Given the description of an element on the screen output the (x, y) to click on. 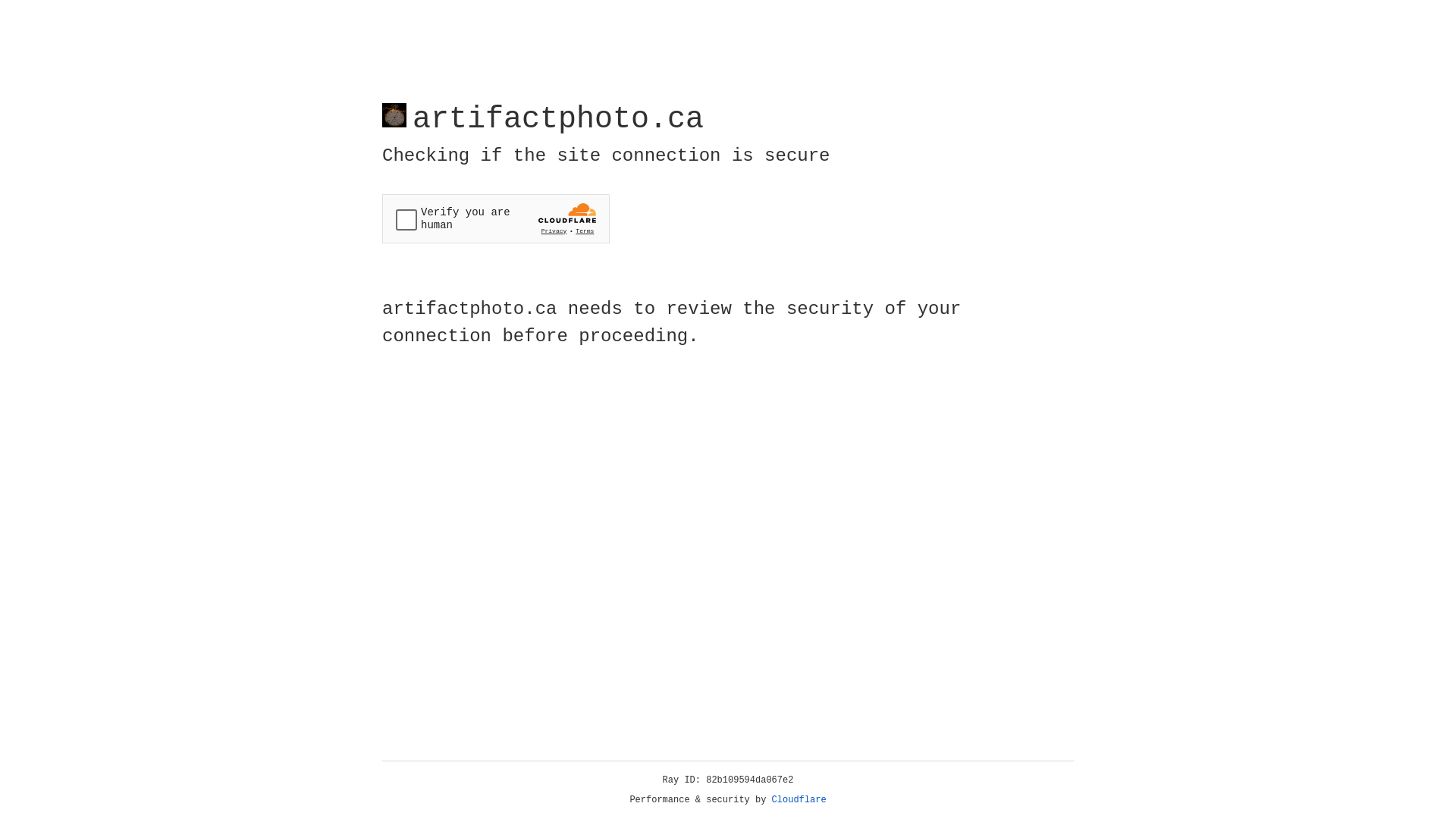
Widget containing a Cloudflare security challenge Element type: hover (495, 218)
Cloudflare Element type: text (798, 799)
